Given the description of an element on the screen output the (x, y) to click on. 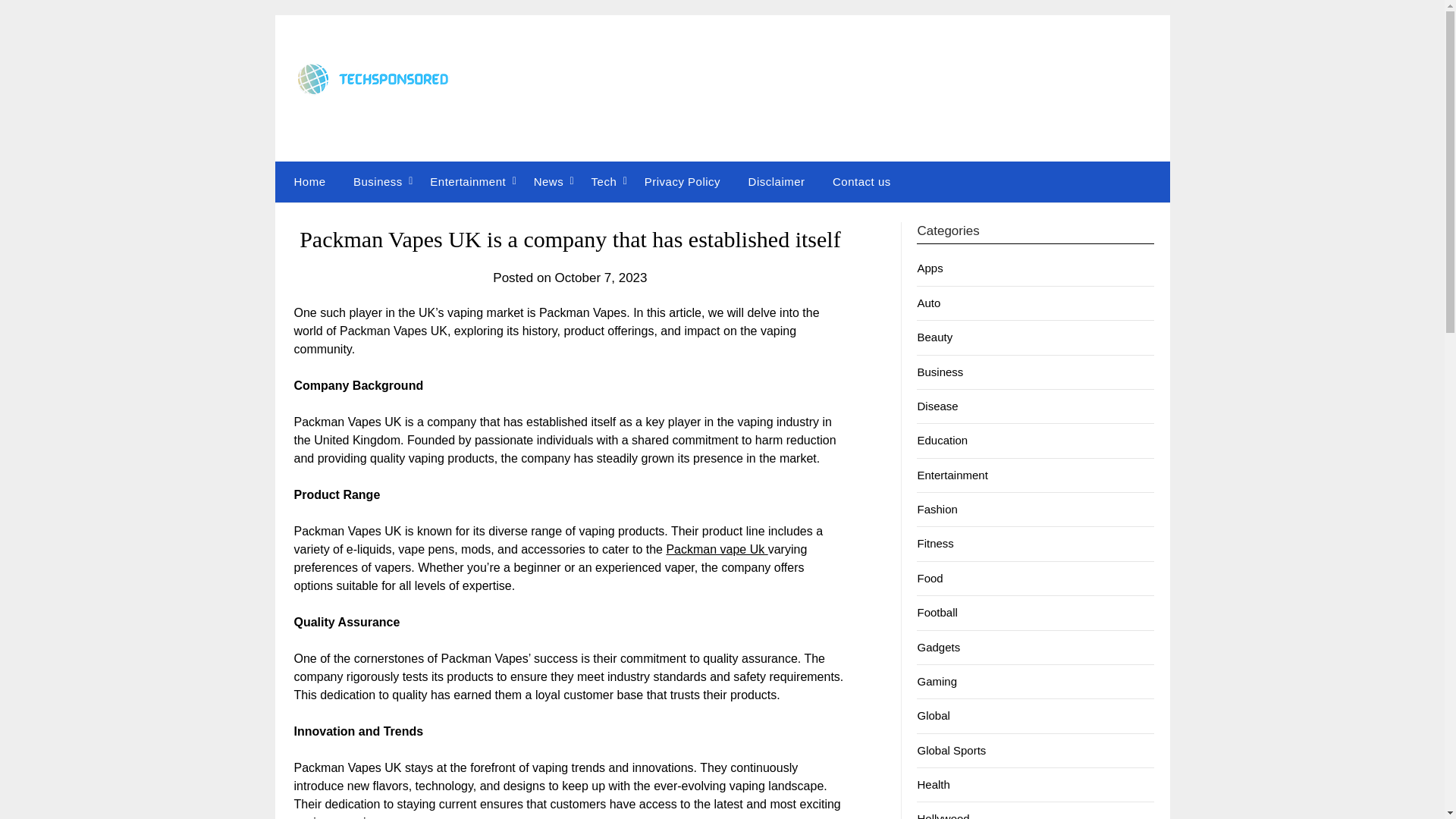
Disease (937, 405)
Business (939, 371)
Entertainment (467, 181)
Auto (928, 302)
Apps (929, 267)
Education (942, 440)
Disclaimer (776, 181)
Packman vape Uk (716, 549)
Beauty (934, 336)
News (548, 181)
